Given the description of an element on the screen output the (x, y) to click on. 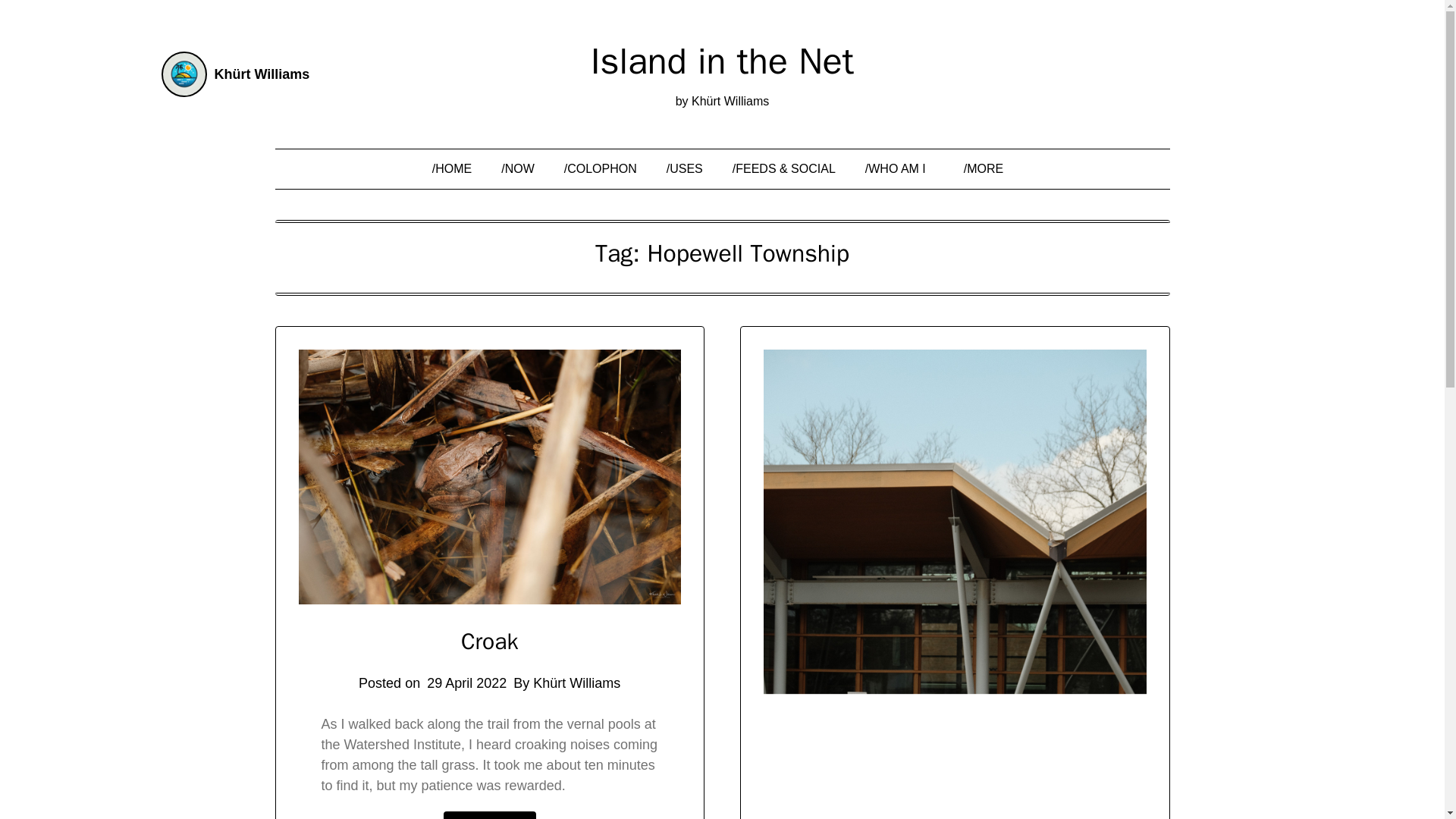
Island in the Net (722, 61)
Read more (489, 815)
Croak (489, 641)
29 April 2022 (466, 683)
